Given the description of an element on the screen output the (x, y) to click on. 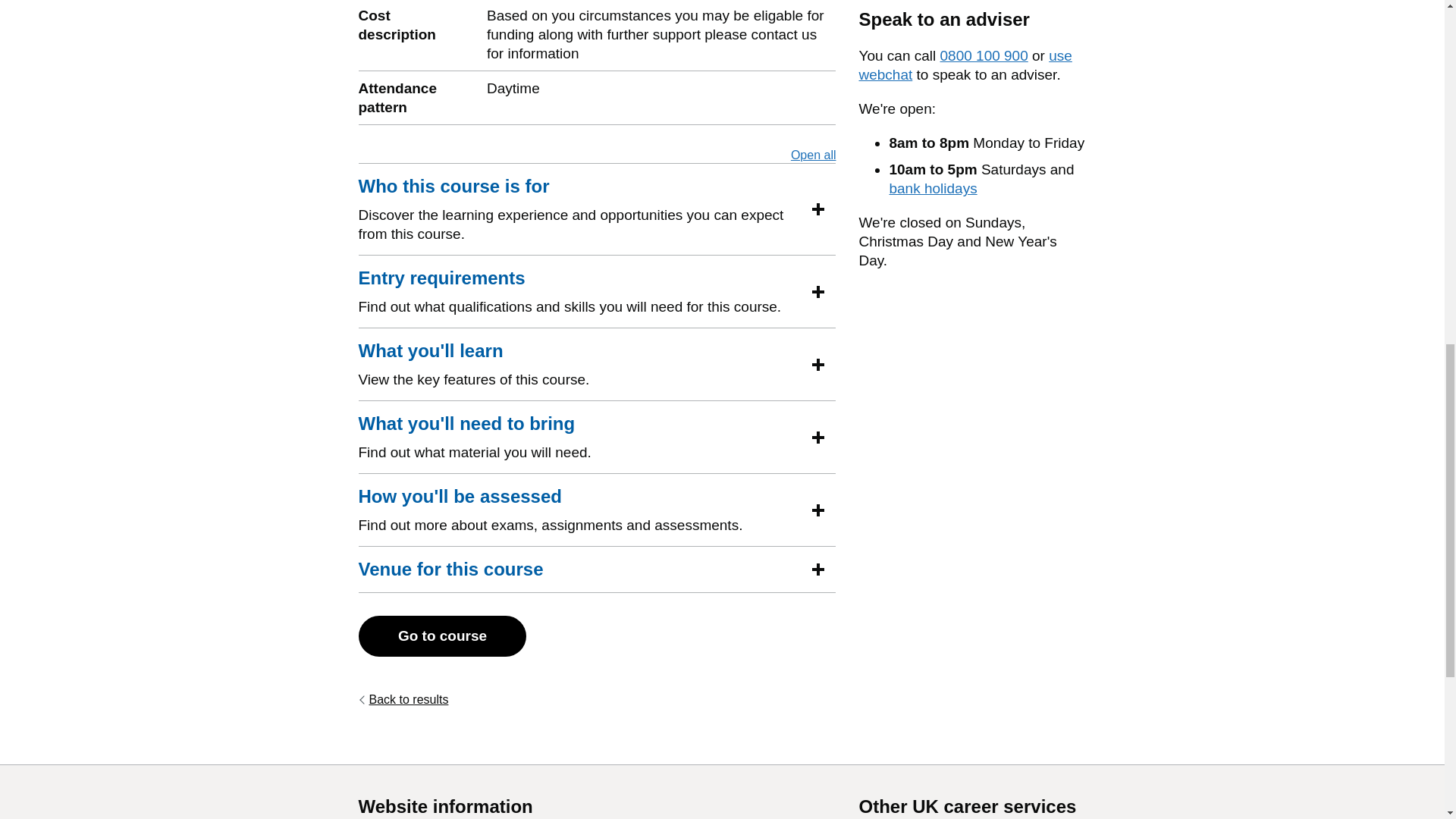
Entry requirements (441, 277)
How you'll be assessed (459, 496)
bank holidays (932, 188)
use webchat (965, 64)
Go to course (441, 635)
What you'll learn (430, 350)
What you'll need to bring (812, 155)
Back to results (466, 423)
Venue for this course (403, 699)
